Given the description of an element on the screen output the (x, y) to click on. 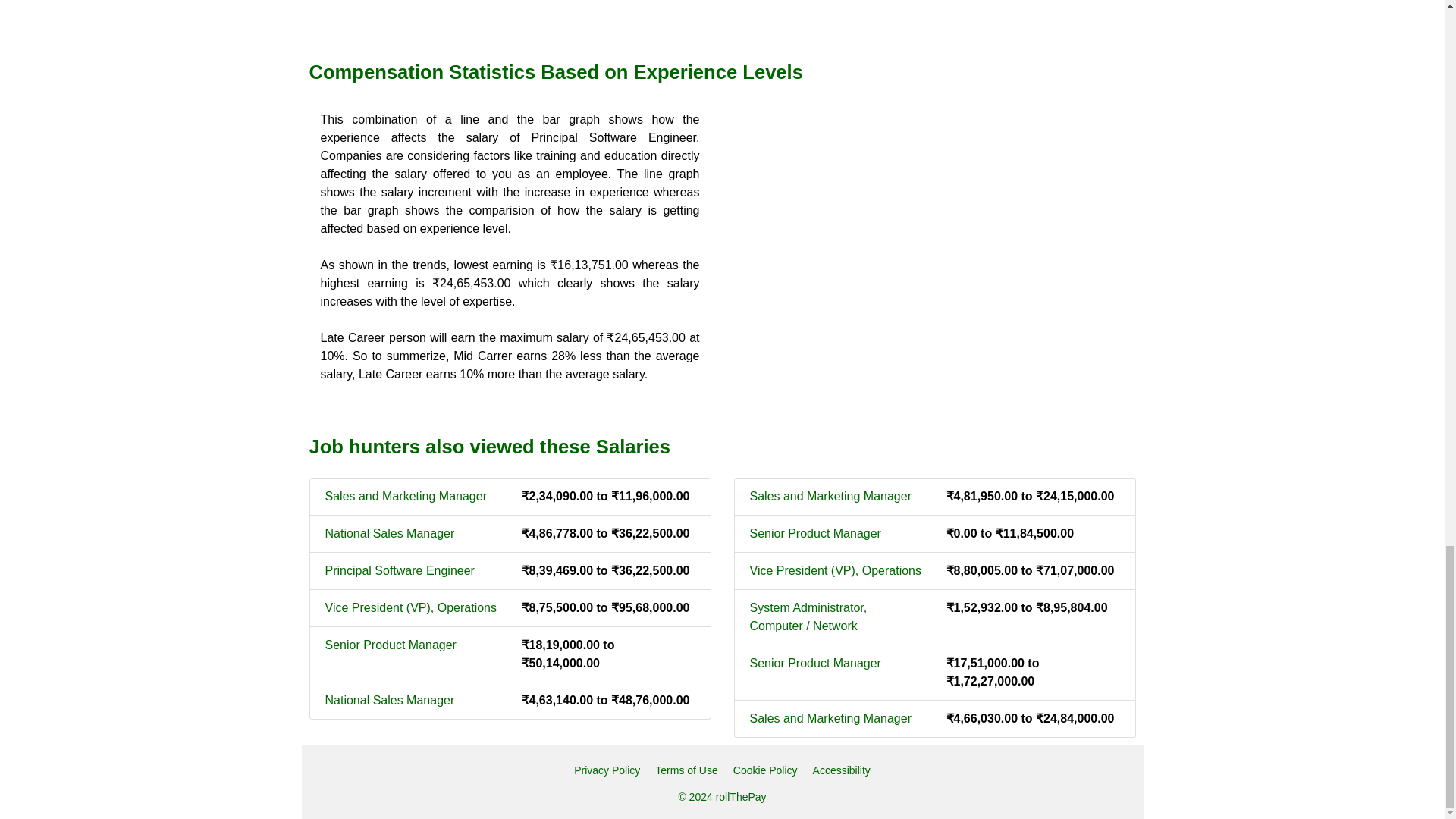
Accessibility (841, 770)
Cookie Policy (765, 770)
Privacy Policy (606, 770)
Terms of Use (686, 770)
